Given the description of an element on the screen output the (x, y) to click on. 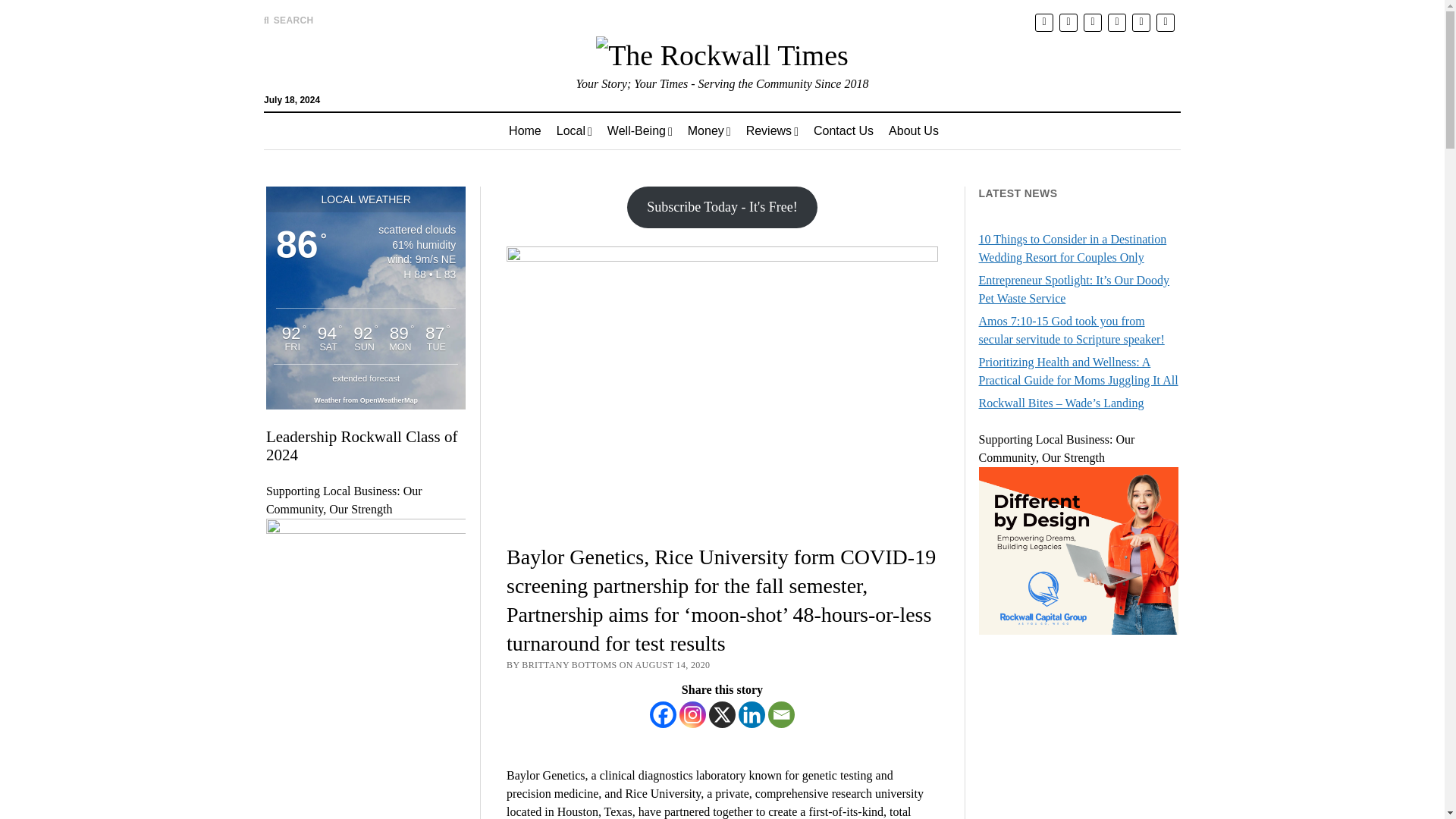
Facebook (663, 714)
Local (574, 131)
Money (708, 131)
Contact Us (843, 131)
extended forecast (364, 378)
Search (945, 129)
phone (1165, 22)
Well-Being (639, 131)
X (722, 714)
Home (524, 131)
About Us (913, 131)
Linkedin (751, 714)
Reviews (772, 131)
SEARCH (288, 20)
Instagram (692, 714)
